Given the description of an element on the screen output the (x, y) to click on. 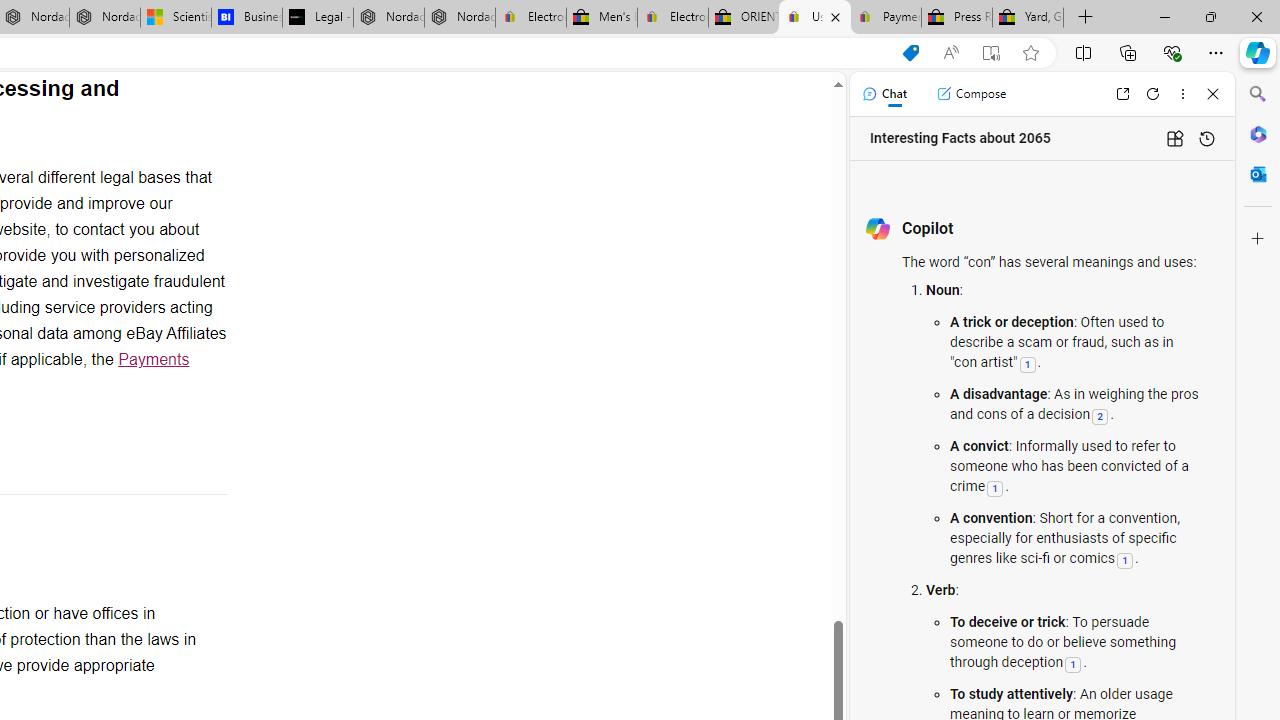
Payments Terms of Use | eBay.com (886, 17)
Chat (884, 93)
Enter Immersive Reader (F9) (991, 53)
Press Room - eBay Inc. (956, 17)
